Given the description of an element on the screen output the (x, y) to click on. 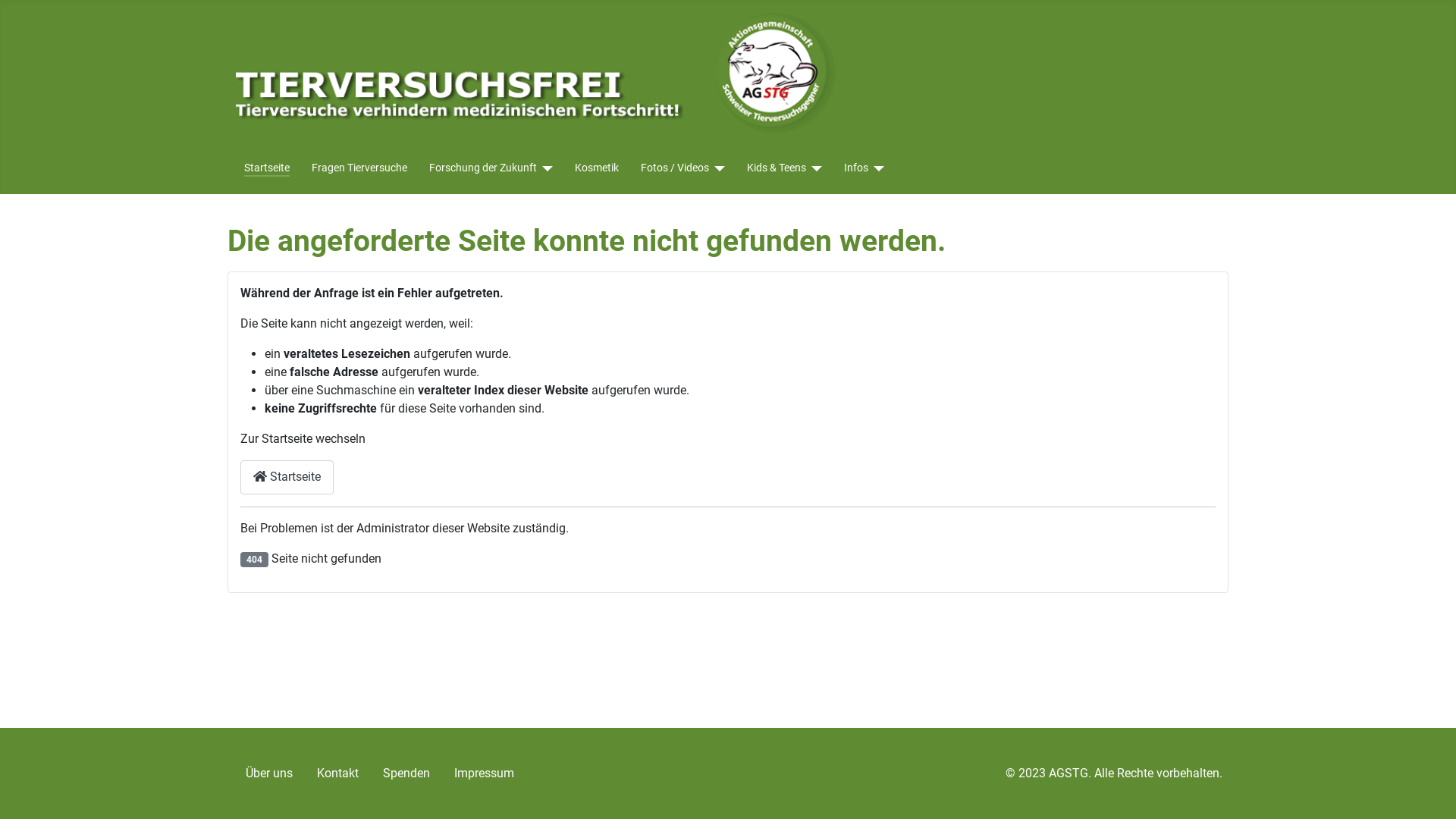
Startseite Element type: text (266, 168)
Fragen Tierversuche Element type: text (359, 168)
Impressum Element type: text (484, 773)
Infos Element type: text (864, 168)
Kontakt Element type: text (337, 773)
Spenden Element type: text (405, 773)
Fotos / Videos Element type: text (674, 168)
Startseite Element type: text (286, 477)
Kids & Teens Element type: text (776, 168)
Forschung der Zukunft Element type: text (482, 168)
Kosmetik Element type: text (596, 168)
